Given the description of an element on the screen output the (x, y) to click on. 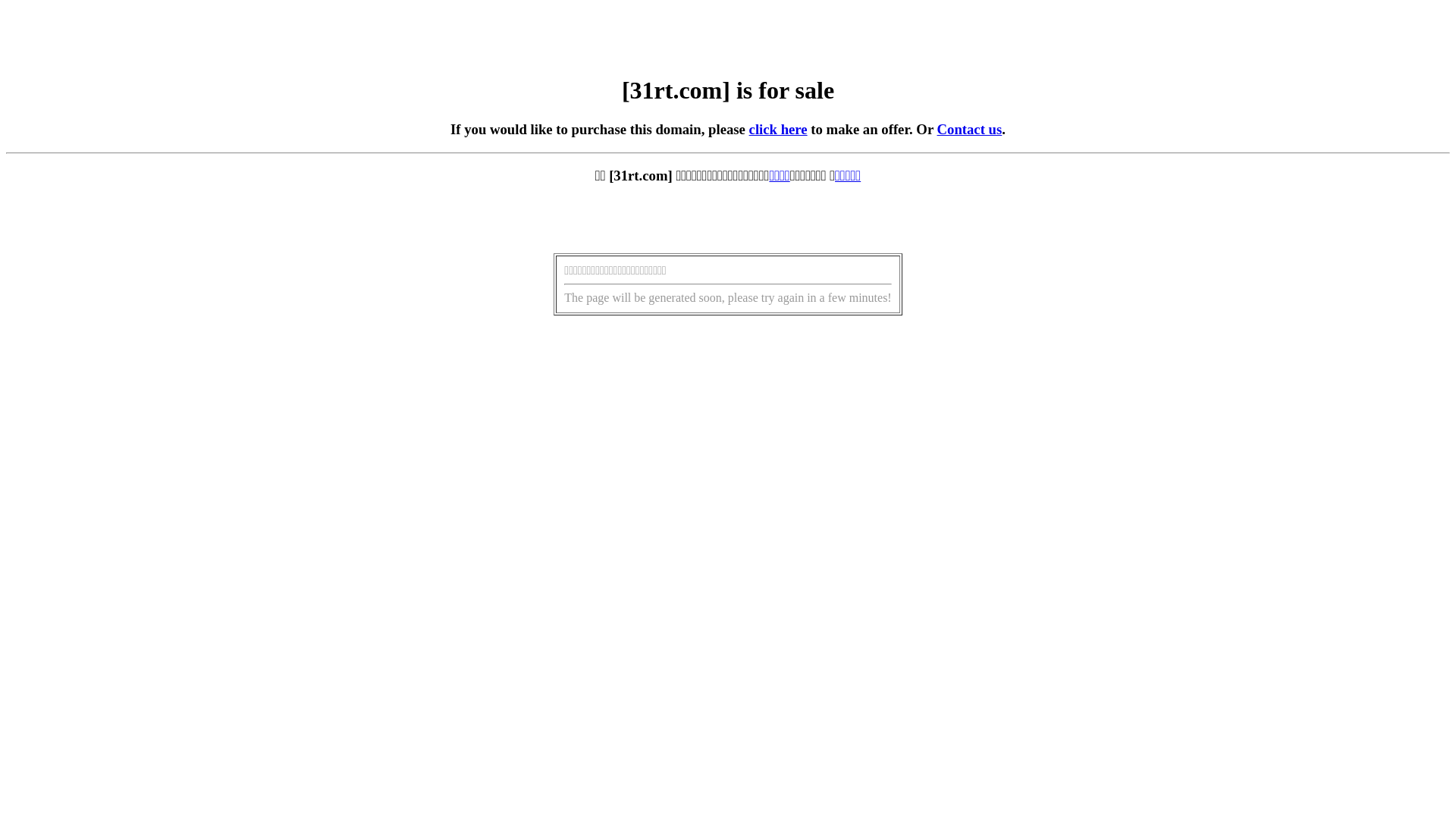
click here Element type: text (778, 129)
Contact us Element type: text (969, 129)
